Given the description of an element on the screen output the (x, y) to click on. 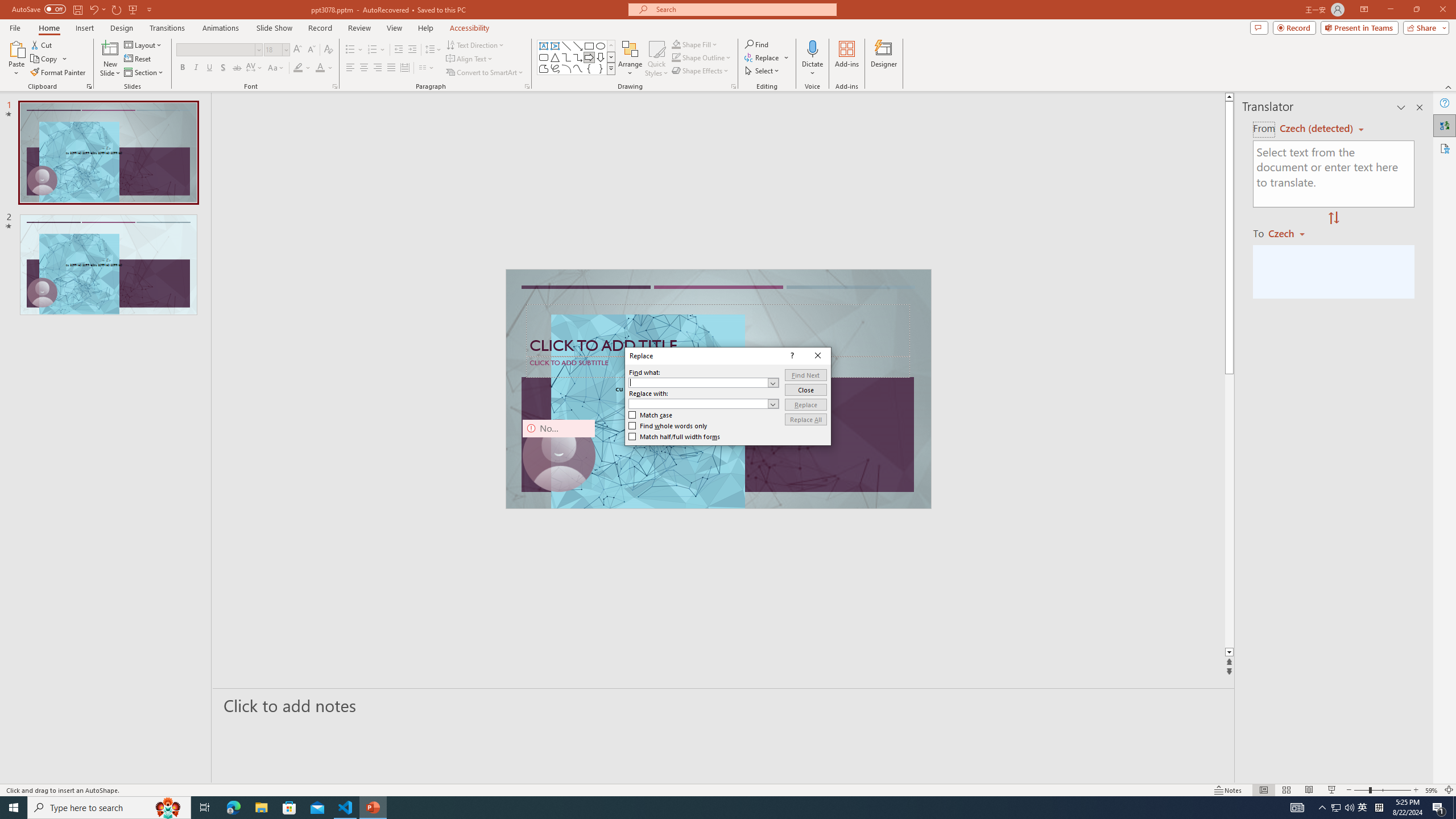
Find what (703, 382)
Replace with (697, 403)
Justify (390, 67)
Task View (204, 807)
Layout (143, 44)
Search highlights icon opens search home window (167, 807)
Shape Outline Green, Accent 1 (675, 56)
